Given the description of an element on the screen output the (x, y) to click on. 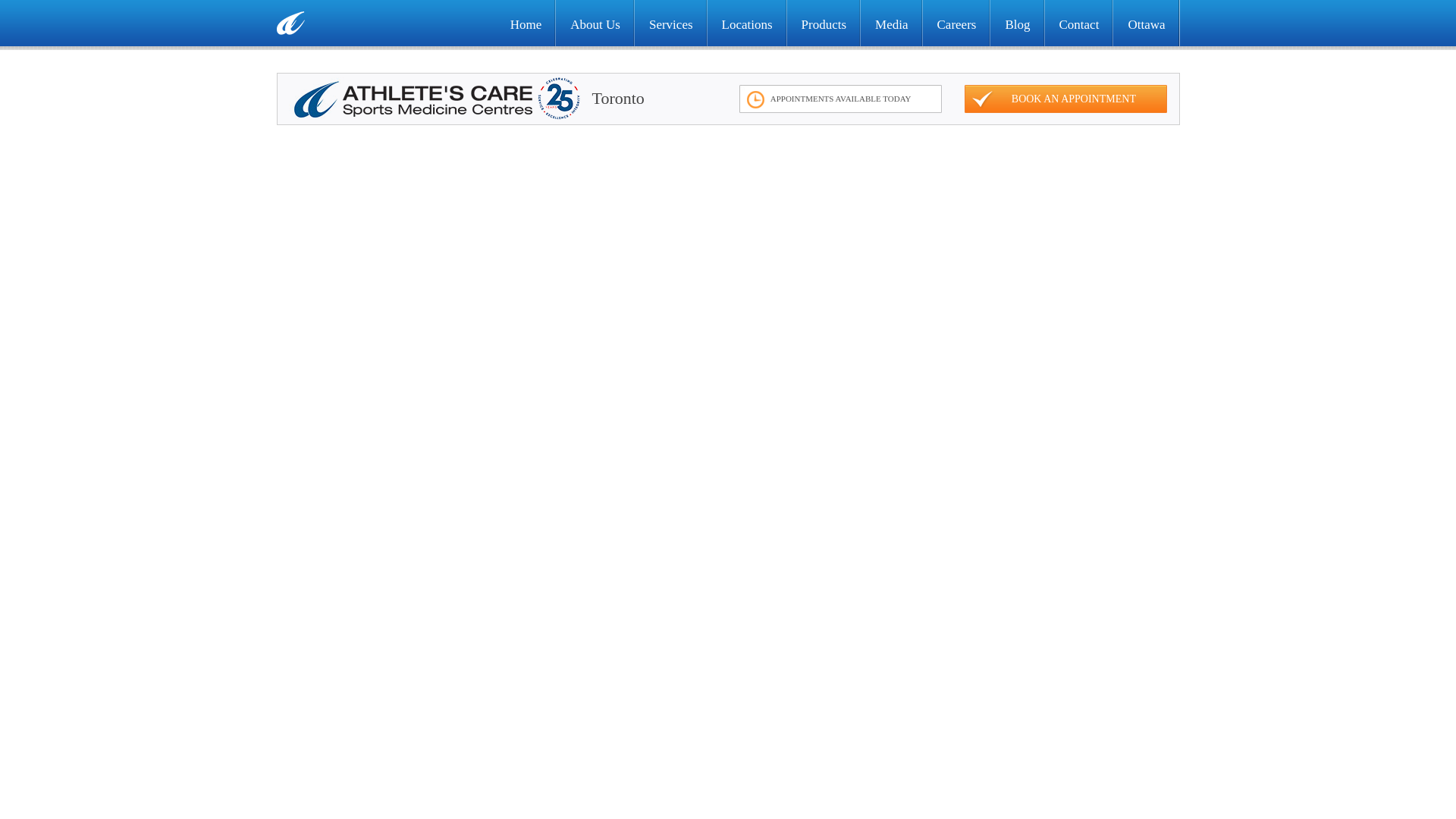
Home (526, 24)
Services (670, 24)
About Us (595, 24)
